Given the description of an element on the screen output the (x, y) to click on. 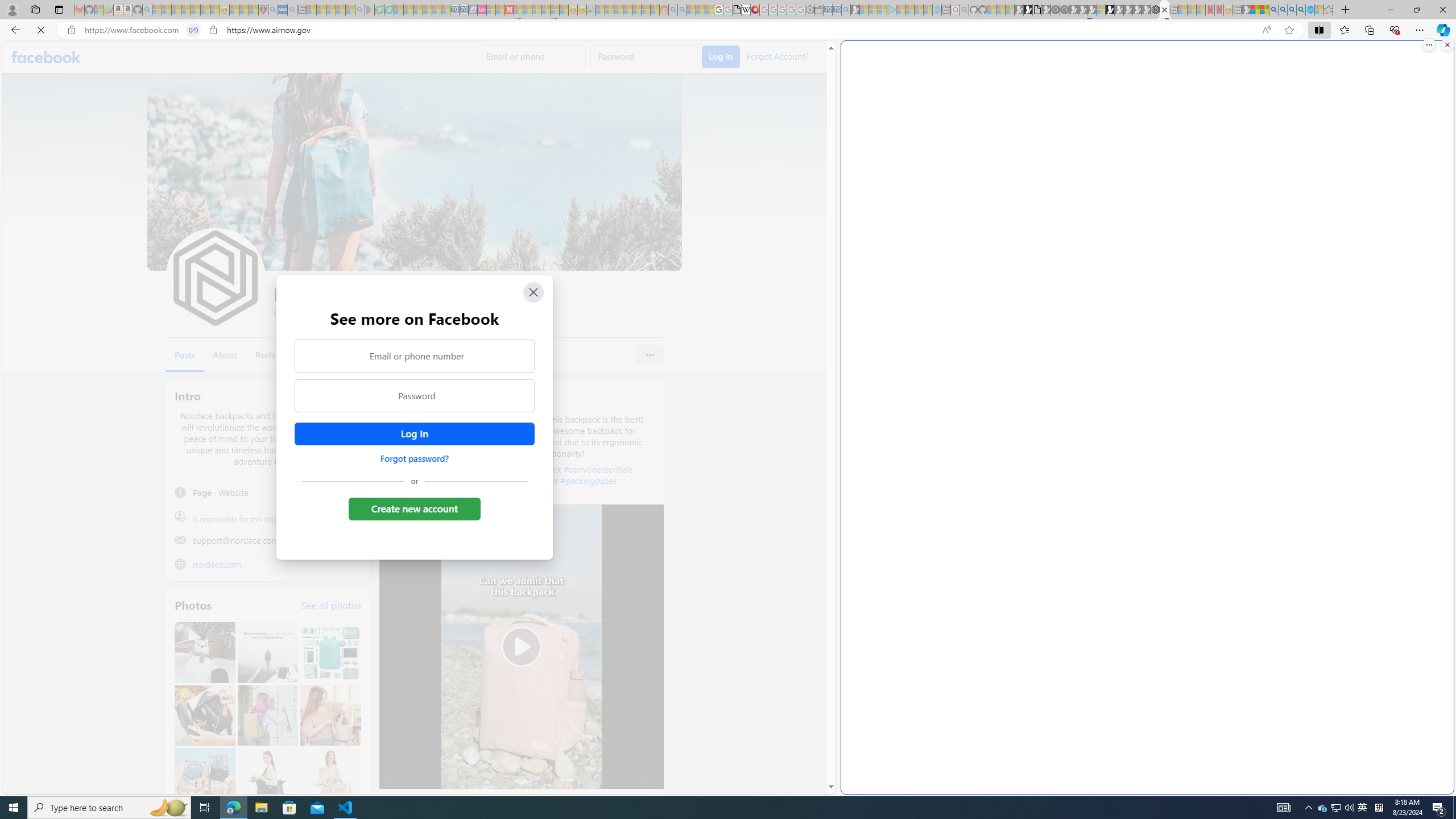
MediaWiki (754, 9)
Kinda Frugal - MSN - Sleeping (636, 9)
More options. (1428, 45)
Tabs in split screen (193, 29)
Email or phone (532, 56)
github - Search - Sleeping (964, 9)
